Given the description of an element on the screen output the (x, y) to click on. 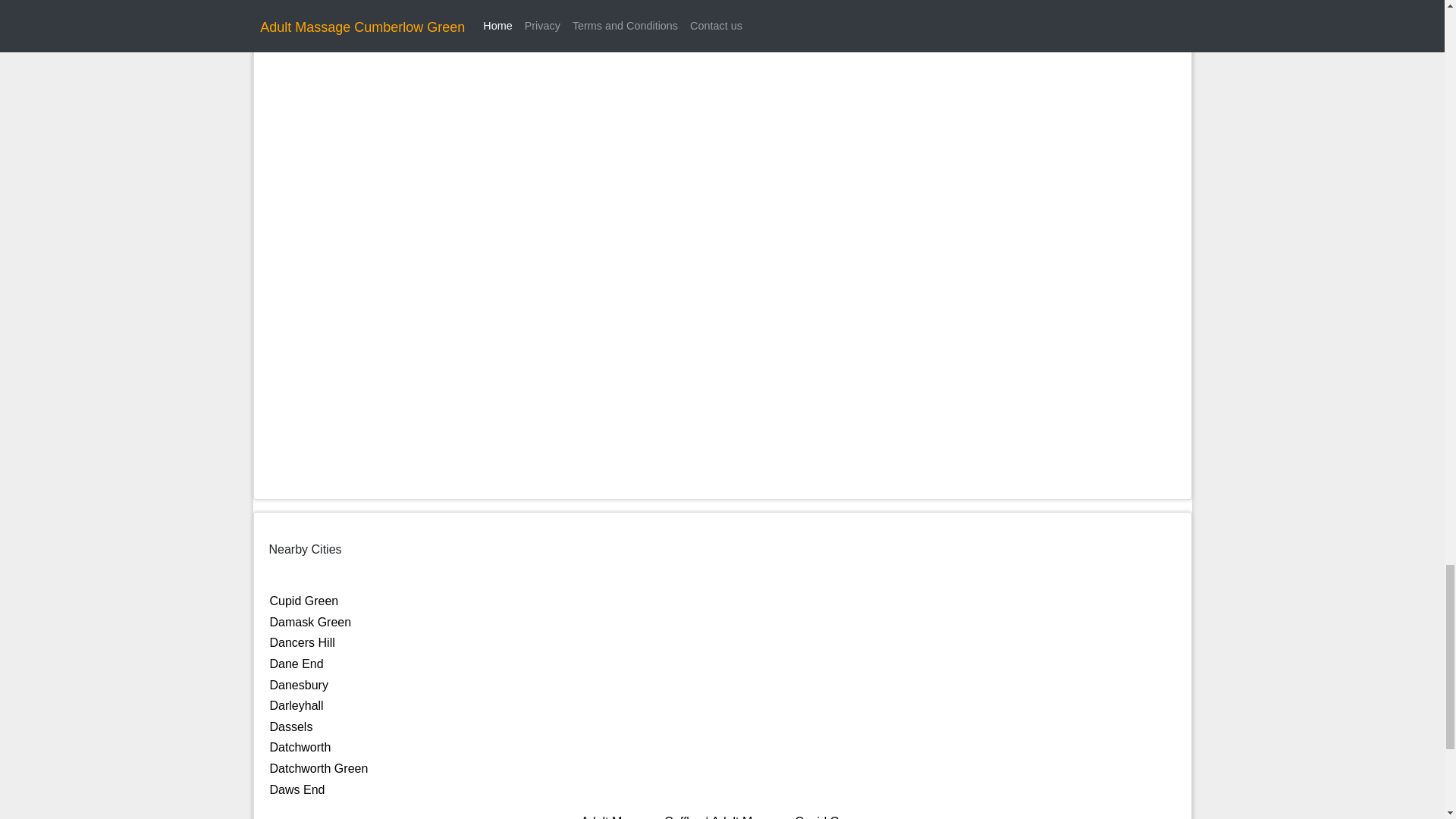
Damask Green (310, 621)
Cupid Green (304, 600)
Datchworth Green (318, 768)
Dancers Hill (301, 642)
Adult Massage Cupid Green (787, 816)
Danesbury (299, 684)
Daws End (296, 789)
Datchworth (300, 747)
Dane End (296, 663)
Dassels (291, 726)
Adult Massage Cuffley (640, 816)
Darleyhall (296, 705)
